Given the description of an element on the screen output the (x, y) to click on. 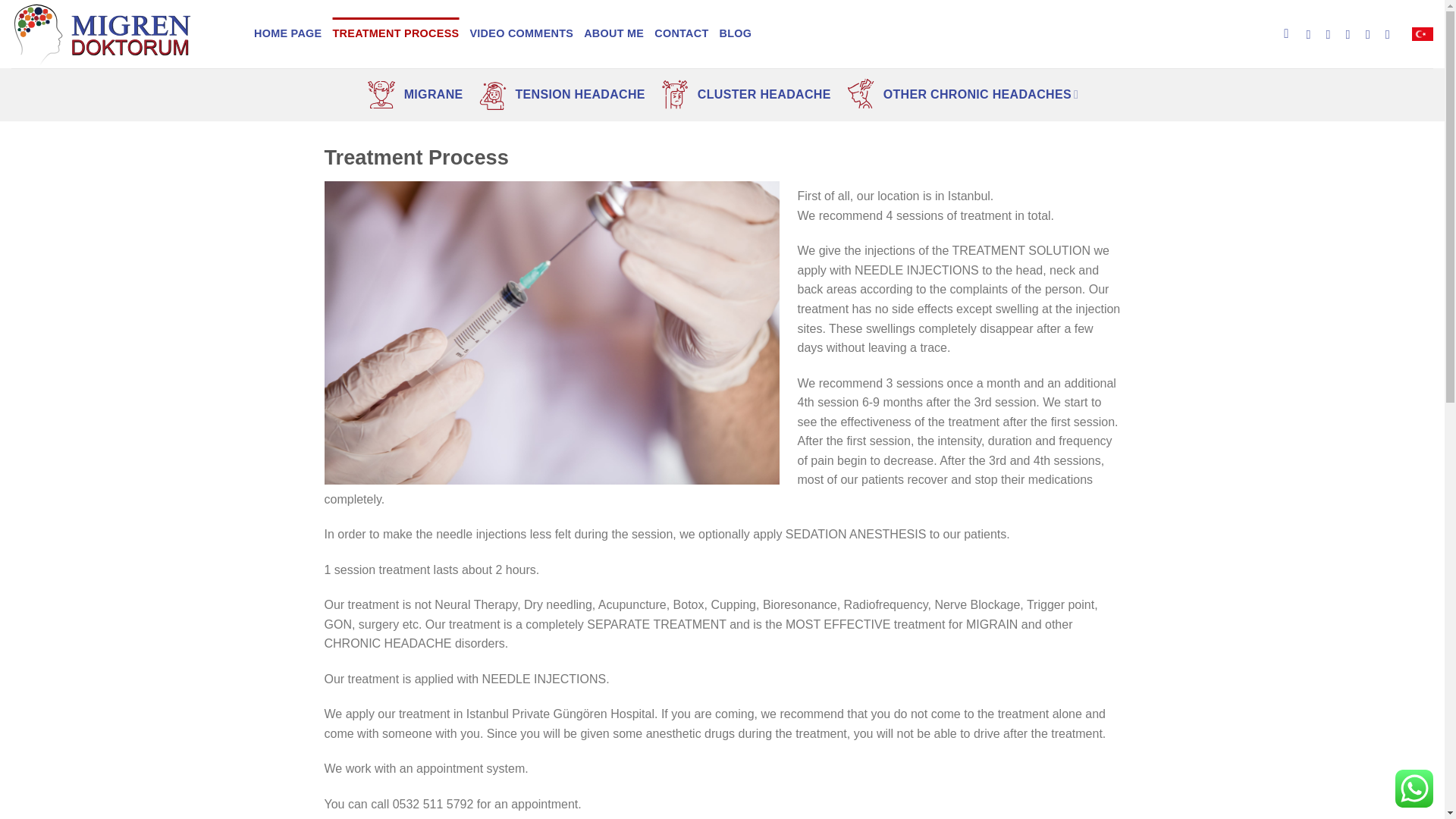
TREATMENT PROCESS (394, 33)
OTHER CHRONIC HEADACHES (962, 94)
CLUSTER HEADACHE (743, 94)
VIDEO COMMENTS (520, 33)
MIGRANE (412, 94)
TENSION HEADACHE (559, 94)
Youtube' ta Takip Edin (1391, 33)
ABOUT ME (613, 33)
BLOG (735, 33)
HOME PAGE (287, 33)
Facebook' ta Takip Edin (1311, 33)
CONTACT (680, 33)
